Given the description of an element on the screen output the (x, y) to click on. 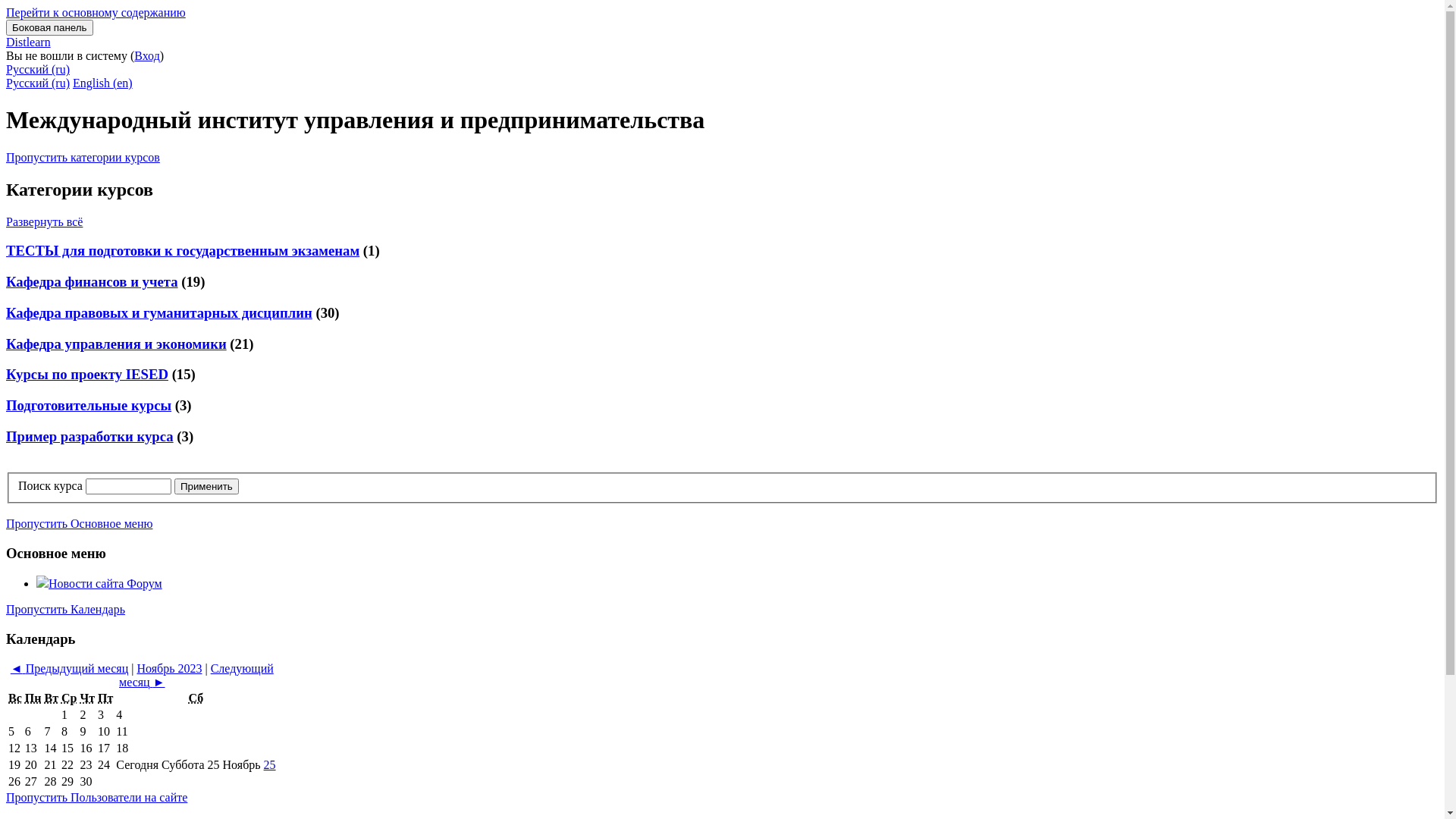
25 Element type: text (269, 764)
Distlearn Element type: text (28, 41)
English (en) Element type: text (102, 82)
